Given the description of an element on the screen output the (x, y) to click on. 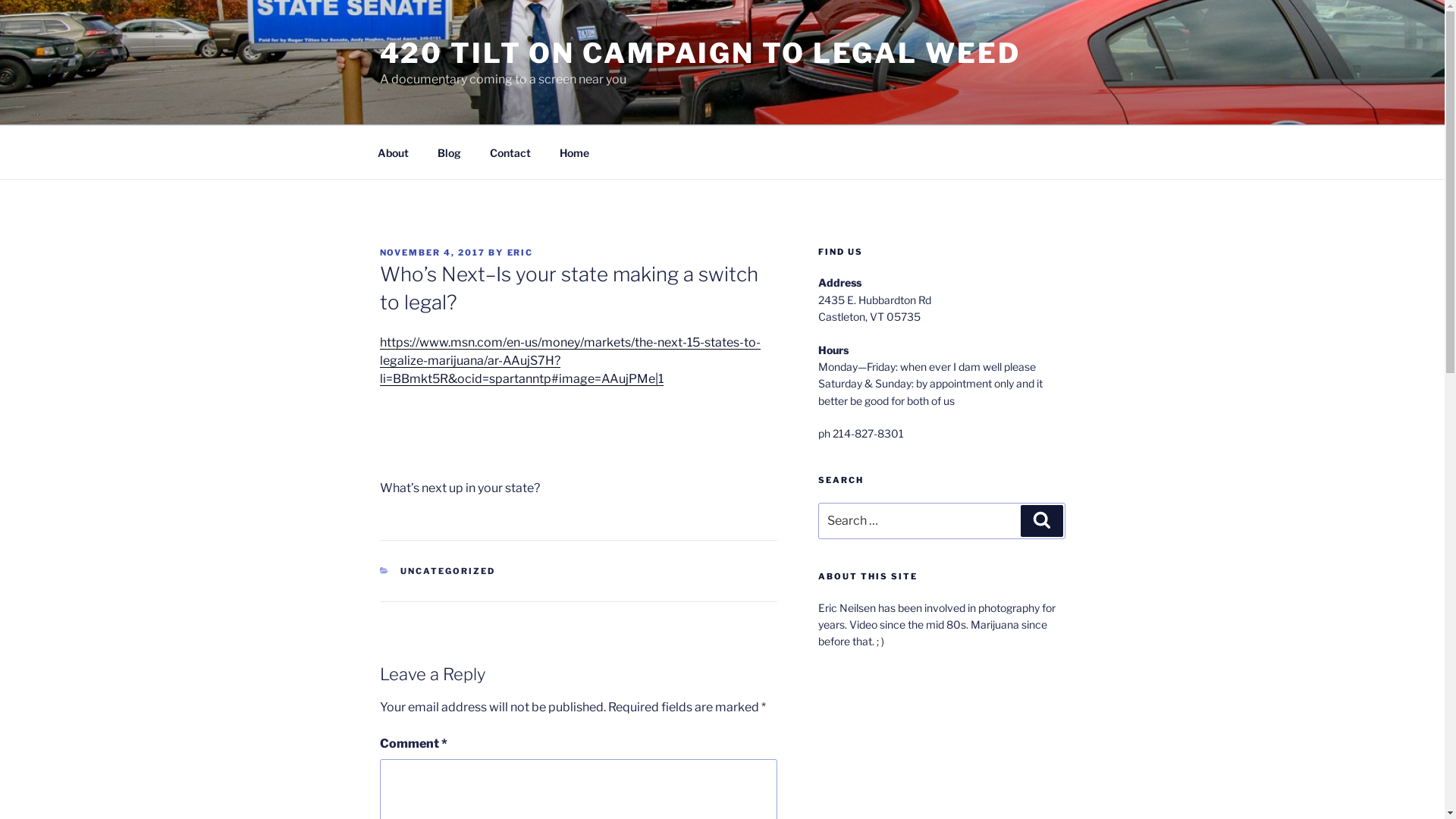
Search Element type: text (1041, 520)
NOVEMBER 4, 2017 Element type: text (432, 252)
420 TILT ON CAMPAIGN TO LEGAL WEED Element type: text (699, 52)
UNCATEGORIZED Element type: text (447, 570)
Blog Element type: text (449, 151)
Contact Element type: text (509, 151)
ERIC Element type: text (519, 252)
Home Element type: text (574, 151)
About Element type: text (392, 151)
